Given the description of an element on the screen output the (x, y) to click on. 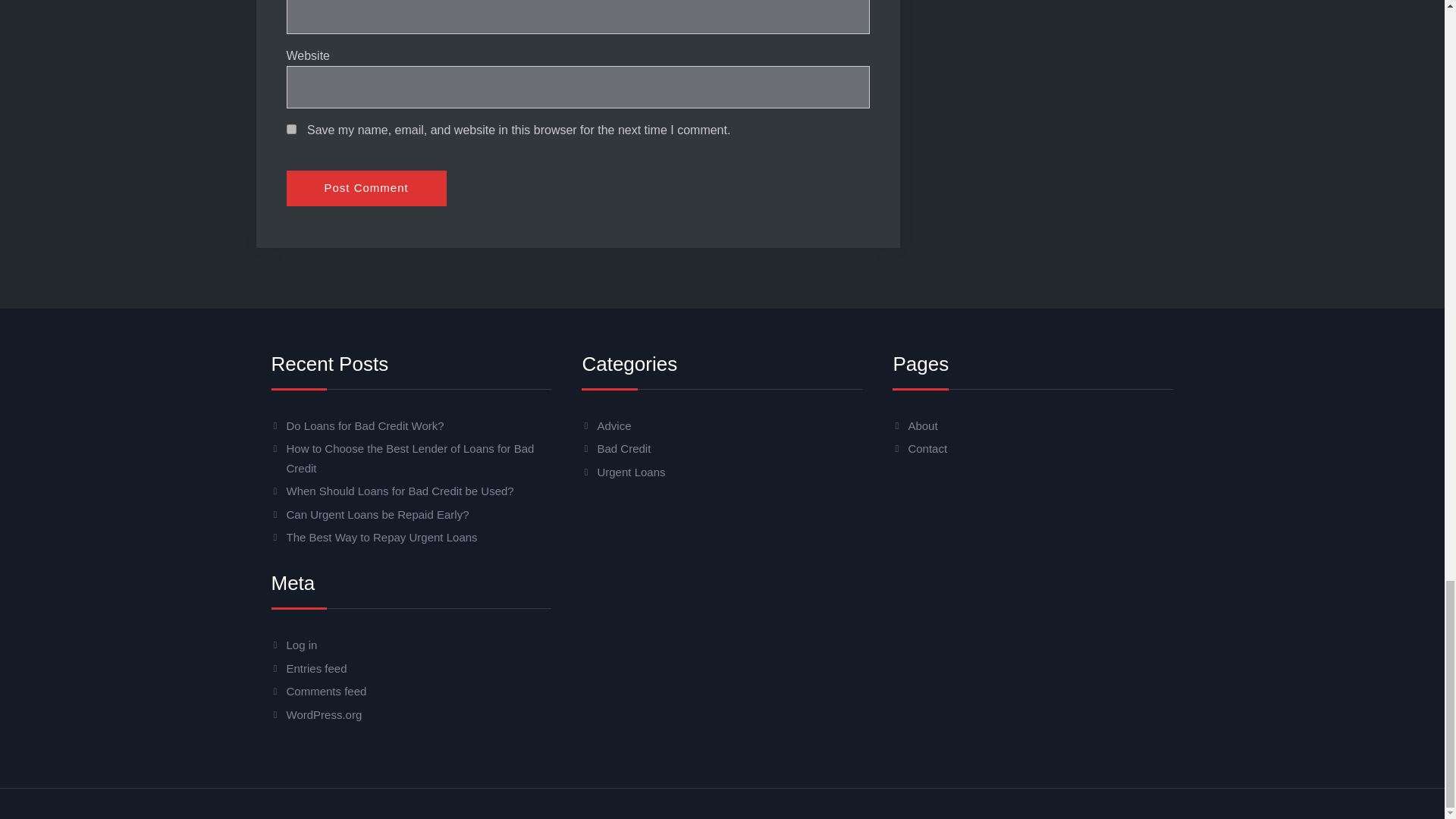
Can Urgent Loans be Repaid Early? (377, 513)
Log in (301, 644)
Advice (613, 425)
The Best Way to Repay Urgent Loans (381, 536)
Post Comment (366, 188)
Comments feed (326, 690)
How to Choose the Best Lender of Loans for Bad Credit (410, 458)
When Should Loans for Bad Credit be Used? (399, 490)
Post Comment (366, 188)
Do Loans for Bad Credit Work? (365, 425)
